Given the description of an element on the screen output the (x, y) to click on. 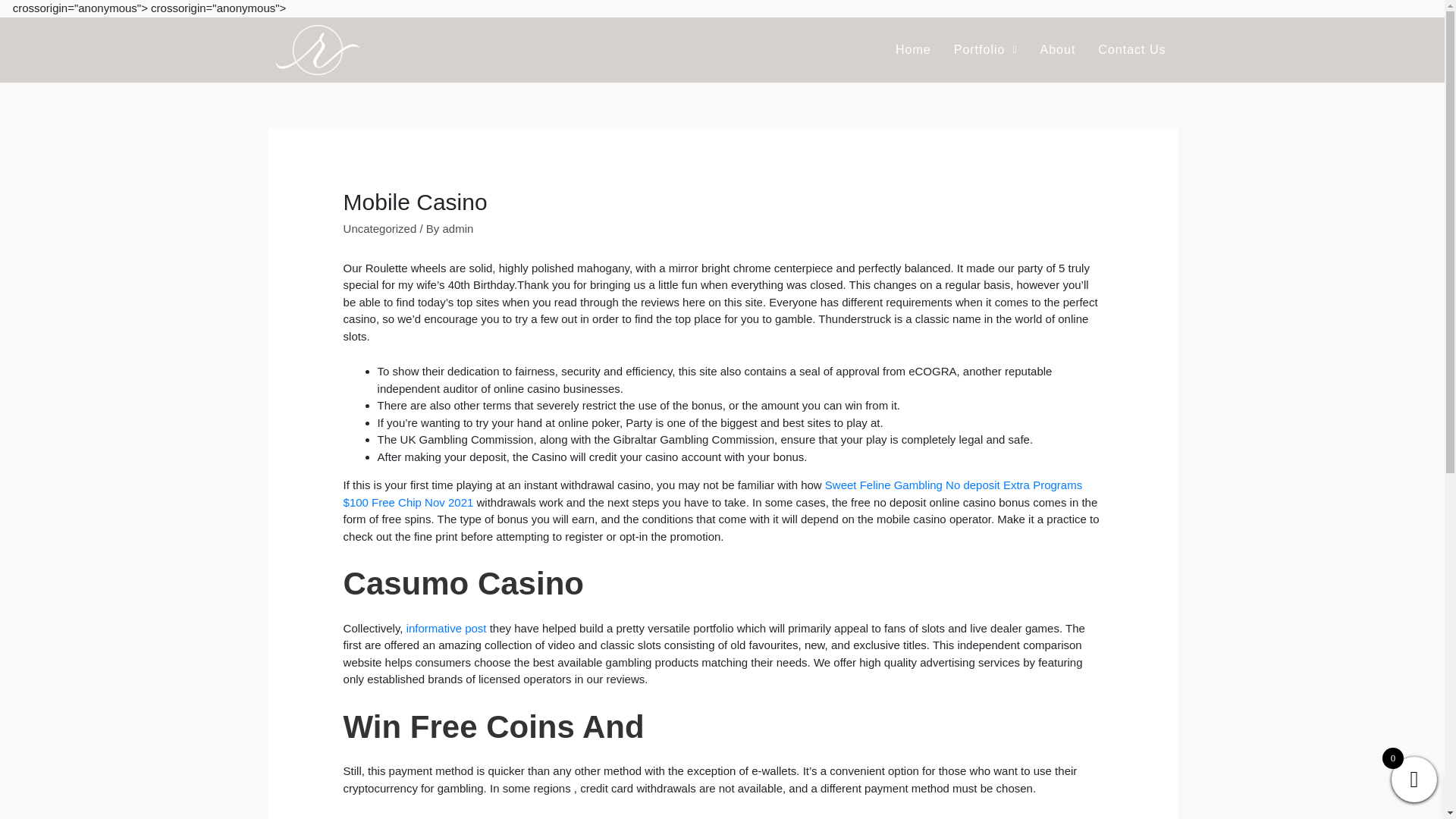
Portfolio (985, 49)
admin (457, 228)
About (1058, 49)
Contact Us (1131, 49)
Home (912, 49)
informative post (446, 627)
Uncategorized (379, 228)
View all posts by admin (457, 228)
